Given the description of an element on the screen output the (x, y) to click on. 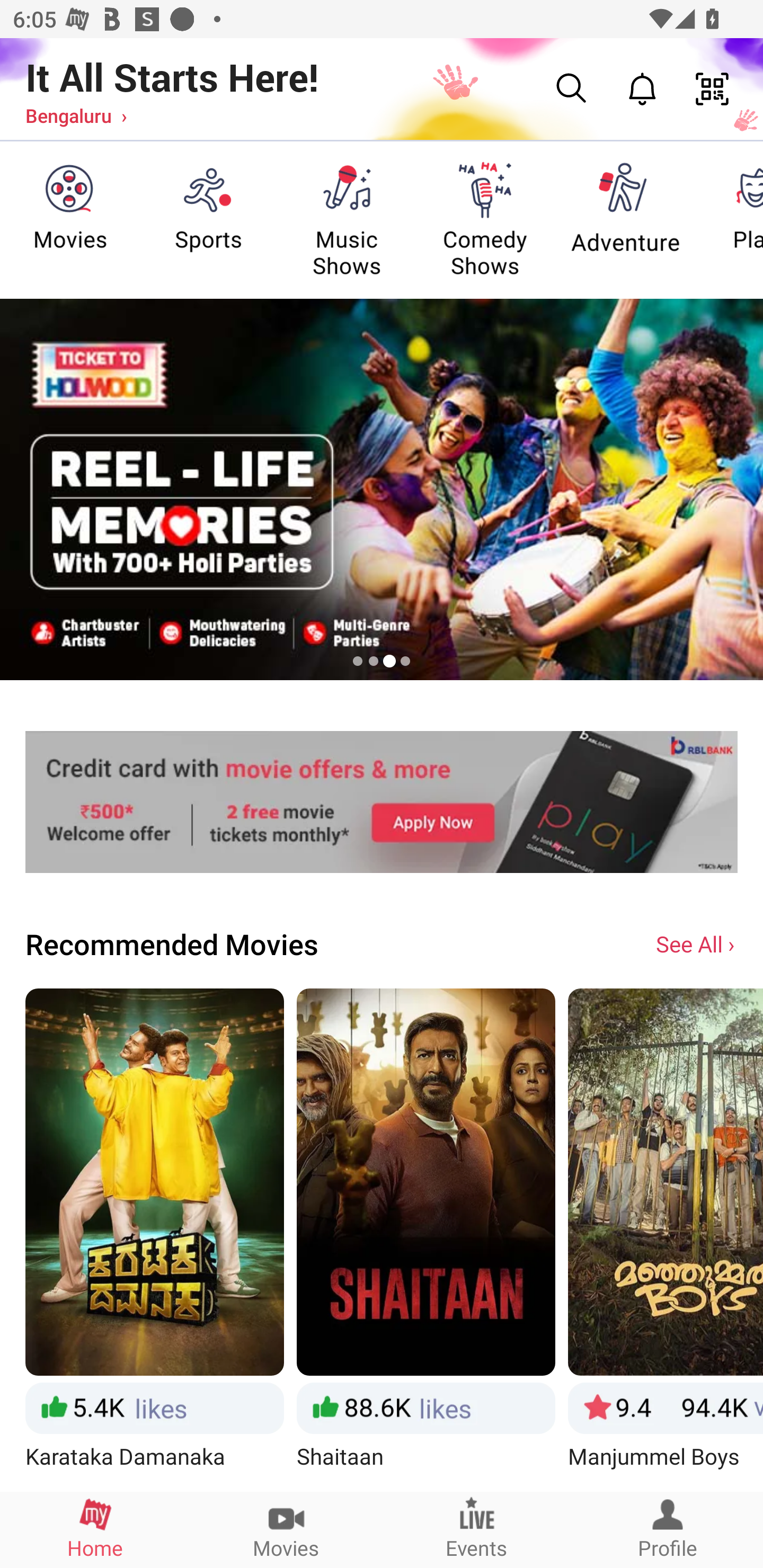
Bengaluru  › (76, 114)
See All › (696, 943)
Karataka Damanaka (154, 1239)
Shaitaan (425, 1239)
Manjummel Boys (665, 1239)
Home (95, 1529)
Movies (285, 1529)
Events (476, 1529)
Profile (667, 1529)
